Given the description of an element on the screen output the (x, y) to click on. 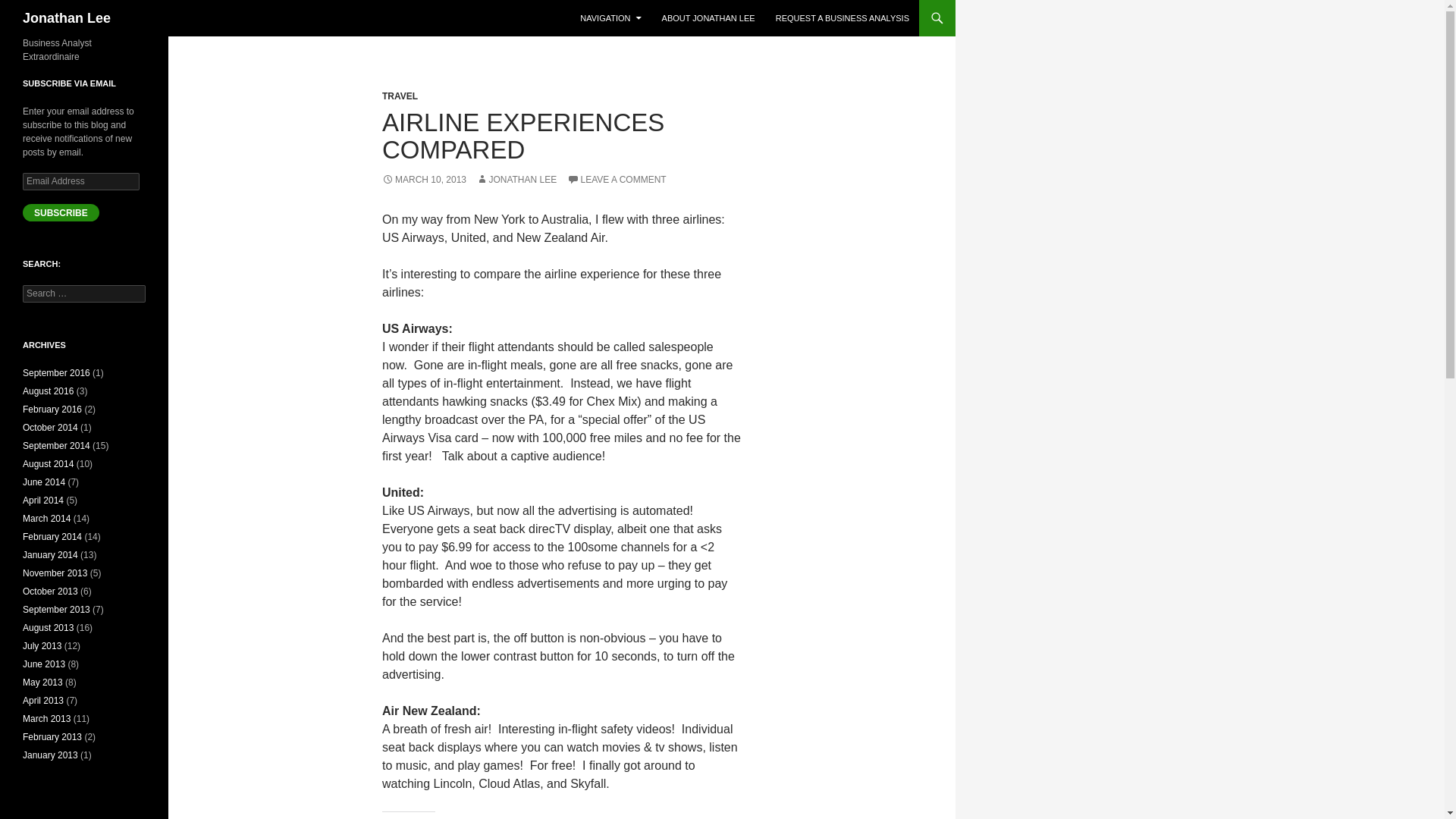
ABOUT JONATHAN LEE (708, 18)
NAVIGATION (609, 18)
October 2014 (50, 427)
LEAVE A COMMENT (616, 179)
SUBSCRIBE (61, 212)
TRAVEL (399, 95)
September 2014 (56, 445)
MARCH 10, 2013 (423, 179)
Jonathan Lee (66, 18)
JONATHAN LEE (516, 179)
REQUEST A BUSINESS ANALYSIS (842, 18)
August 2014 (48, 463)
September 2016 (56, 372)
February 2016 (52, 409)
Search (30, 8)
